Given the description of an element on the screen output the (x, y) to click on. 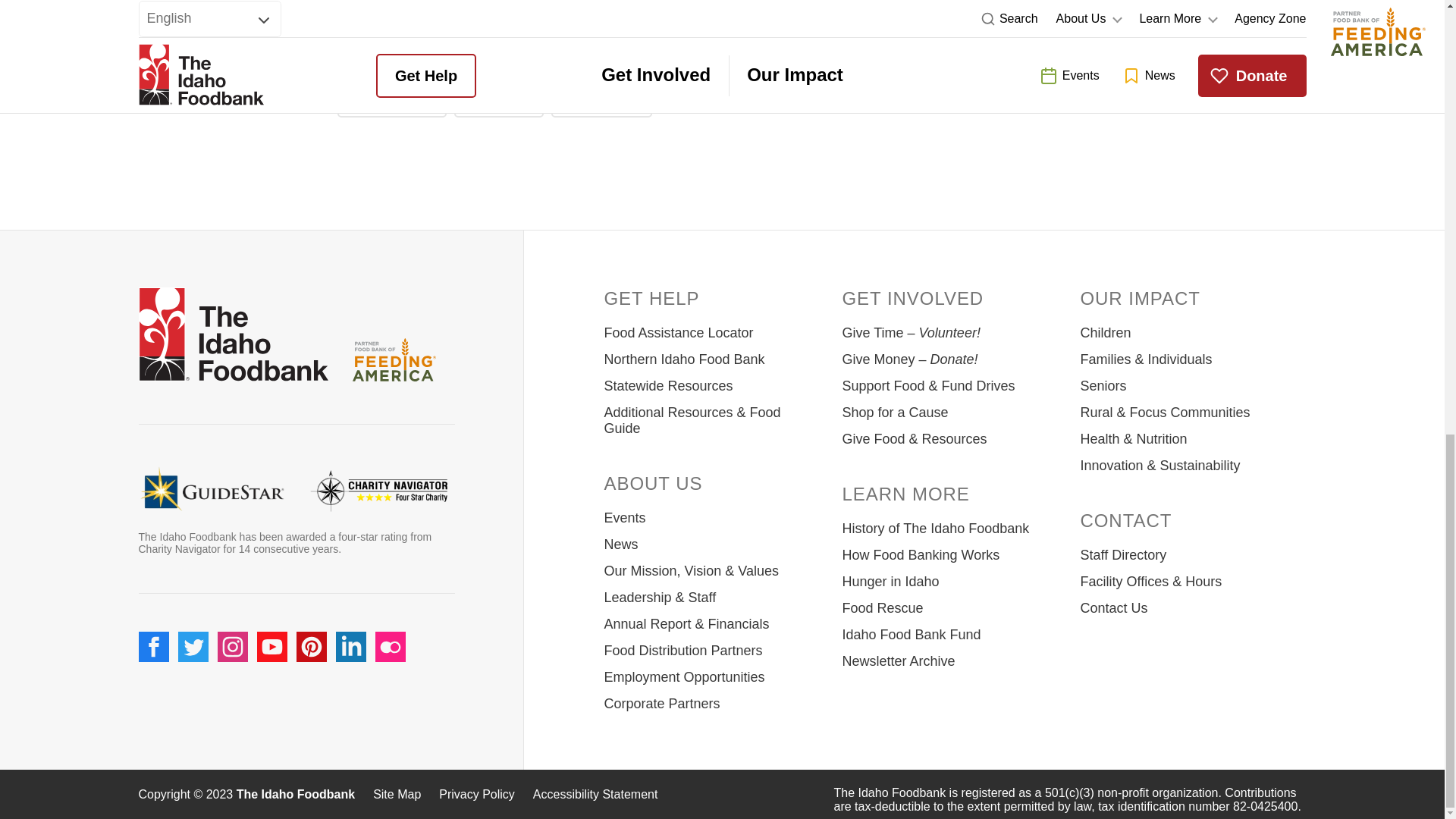
facebook (153, 646)
Share: LinkedIn (601, 99)
Share: Twitter (498, 99)
linkedin (349, 646)
Go to Home page (232, 336)
twitter (192, 646)
youtube (271, 646)
pinterest (310, 646)
flickr (389, 646)
Share: Facebook (390, 99)
